Given the description of an element on the screen output the (x, y) to click on. 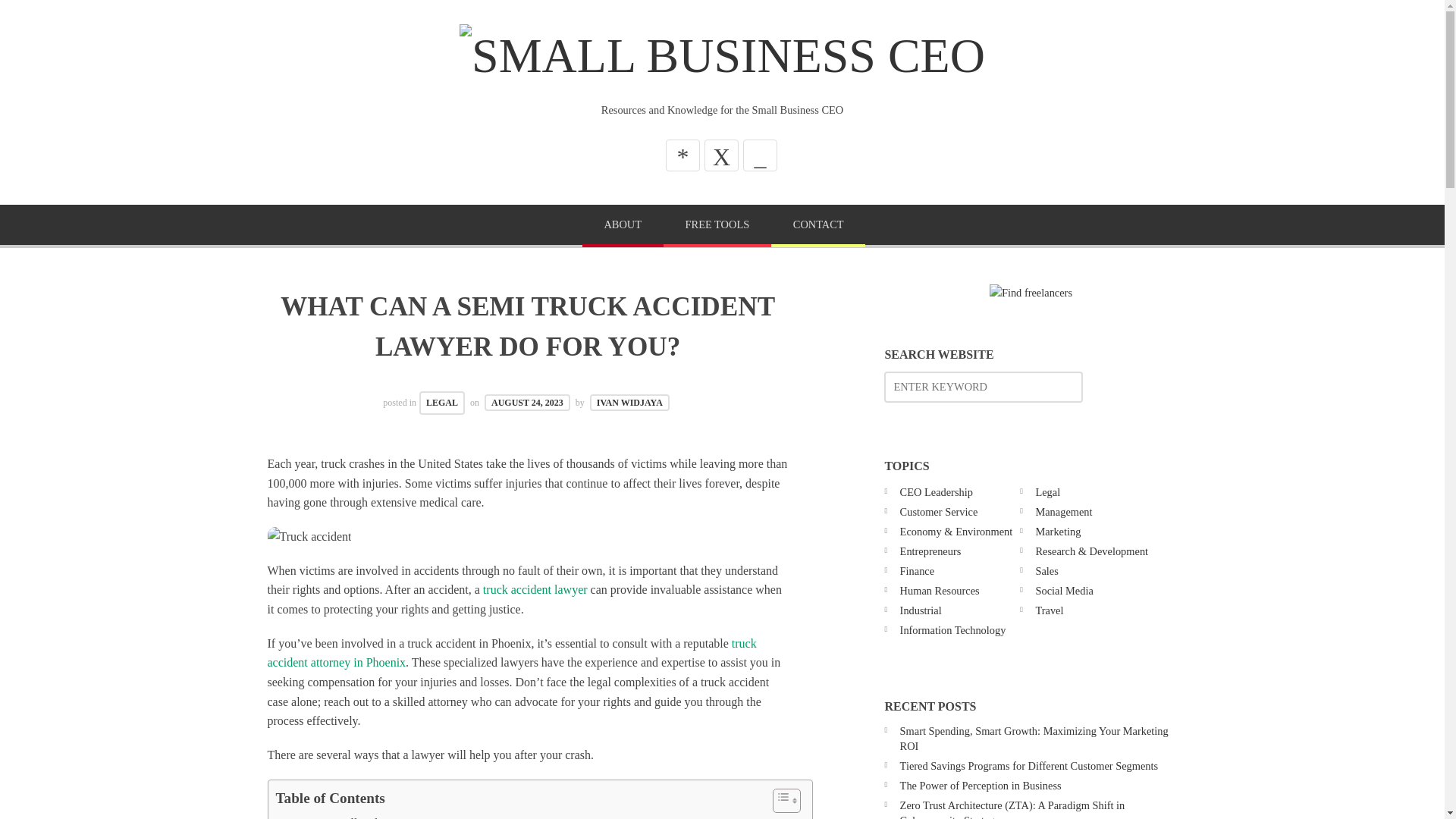
X (721, 155)
A Lawyer Will Help You Investigate (369, 816)
FREE TOOLS (717, 225)
truck accident lawyer (535, 589)
IVAN WIDJAYA (629, 402)
ABOUT (622, 225)
11:15 am (527, 402)
A Lawyer Will Help You Investigate (369, 816)
CEO Leadership (935, 491)
truck accident attorney in Phoenix (510, 653)
Customer Service (938, 511)
CONTACT (817, 225)
Search (45, 16)
View all posts by Ivan Widjaya (629, 402)
LEGAL (441, 402)
